Given the description of an element on the screen output the (x, y) to click on. 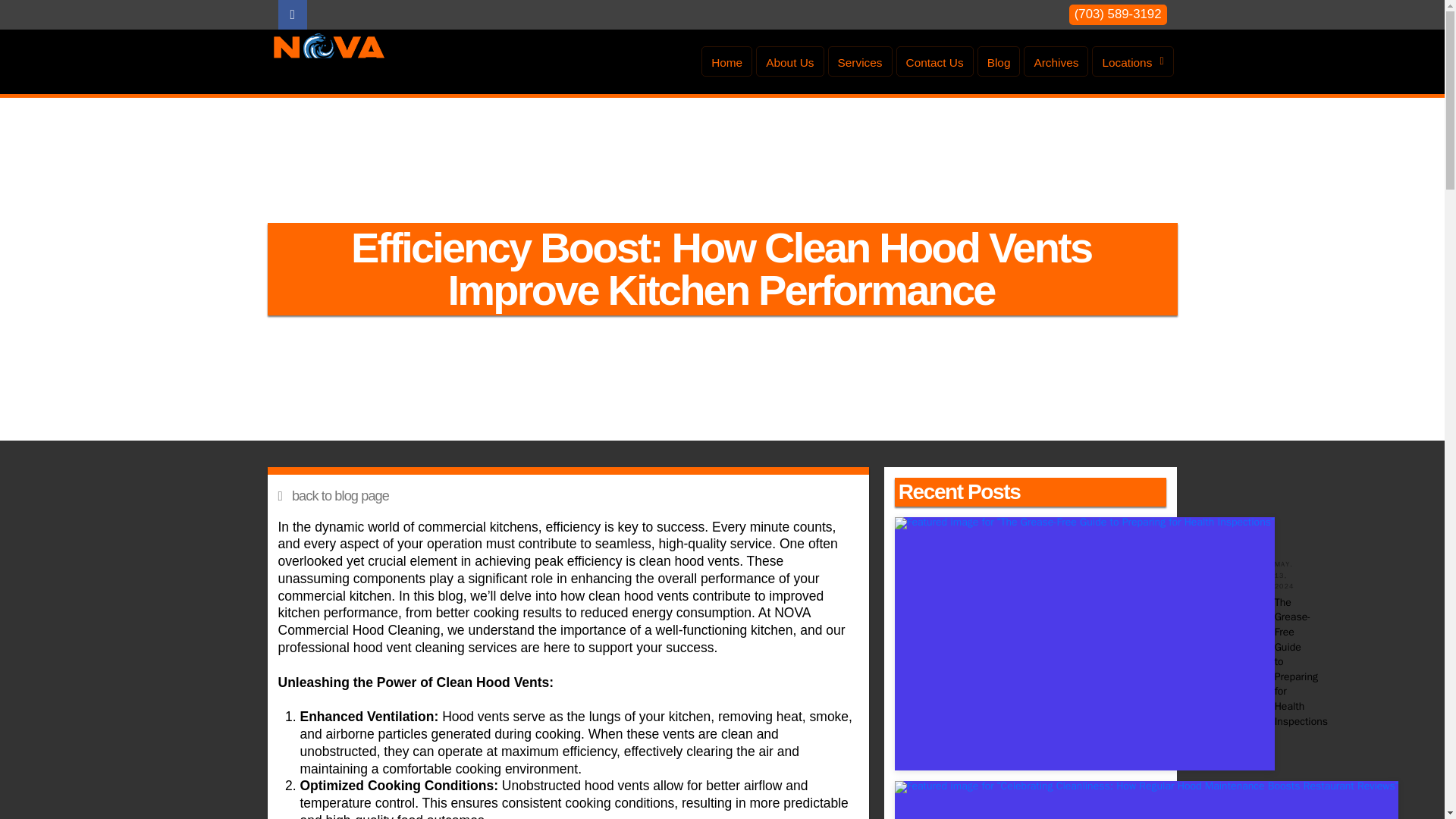
Contact Us (935, 60)
Home (726, 60)
Services (860, 60)
back to blog page (567, 495)
Locations (1132, 60)
Blog (998, 60)
About Us (789, 60)
Archives (1055, 60)
